Given the description of an element on the screen output the (x, y) to click on. 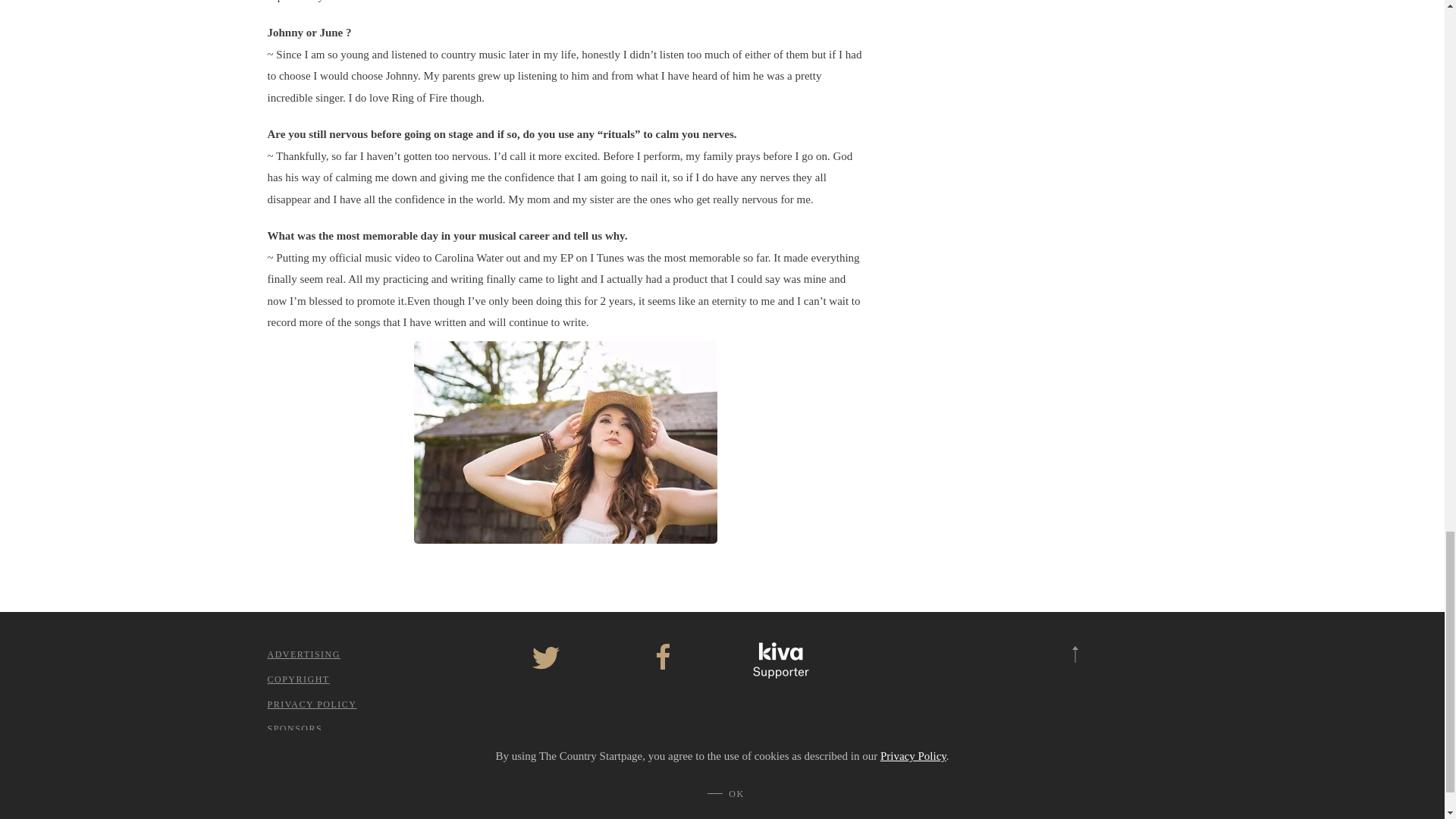
View TrustedSite Certification (898, 678)
